Given the description of an element on the screen output the (x, y) to click on. 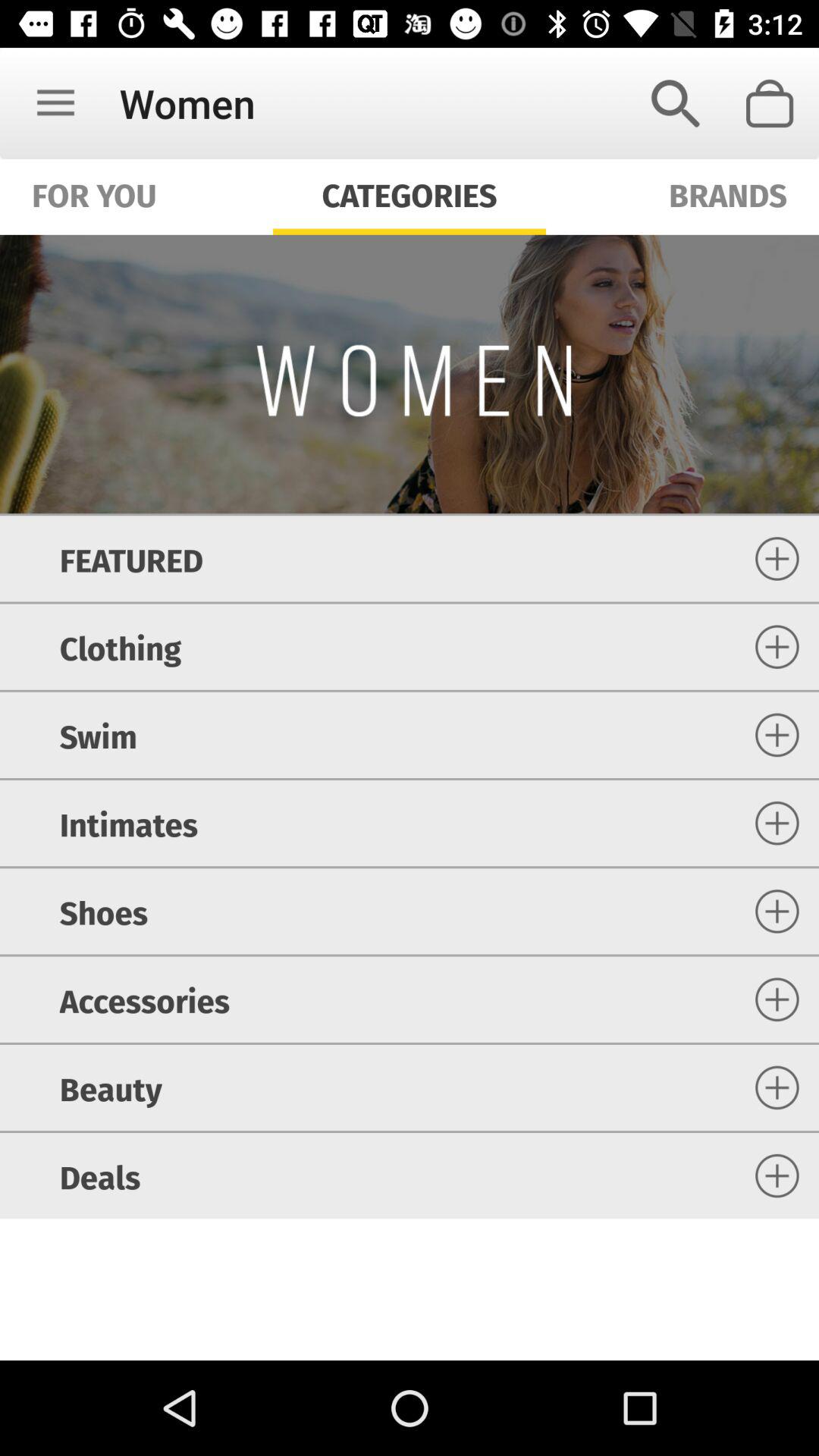
launch the item above the clothing (131, 558)
